Given the description of an element on the screen output the (x, y) to click on. 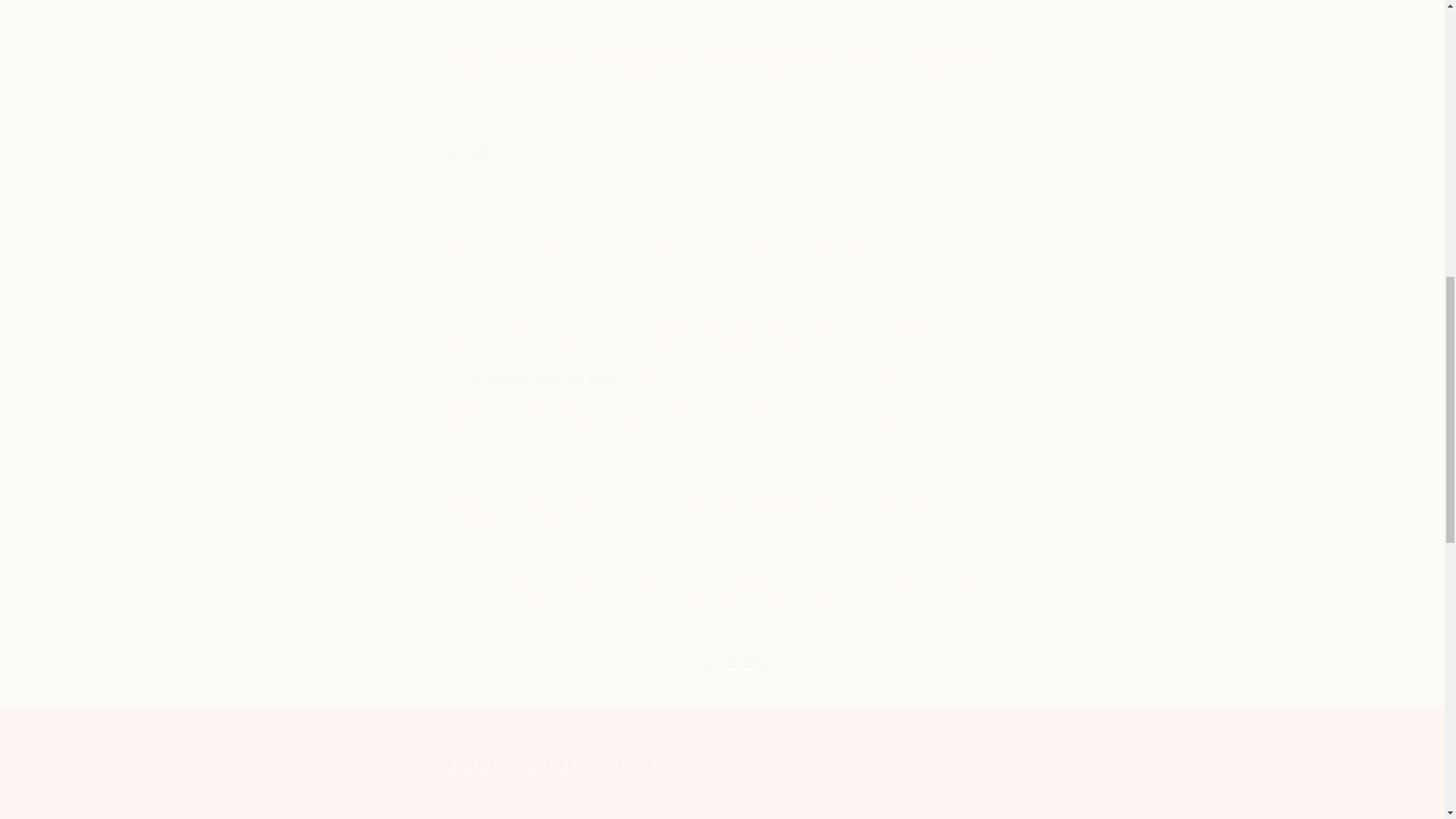
Signature Feminine Wash (546, 380)
Share (721, 65)
